Given the description of an element on the screen output the (x, y) to click on. 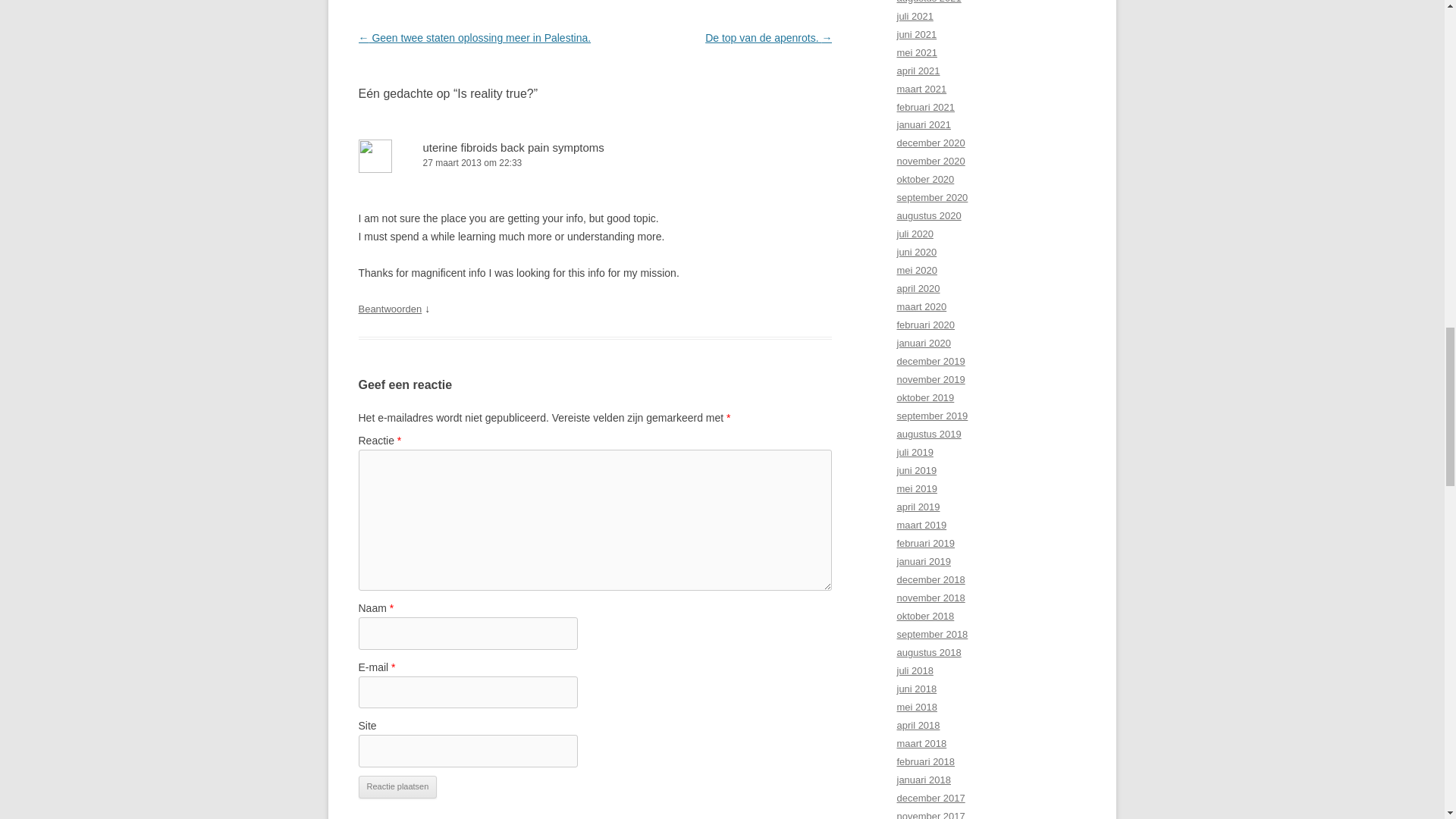
27 maart 2013 om 22:33 (594, 163)
Reactie plaatsen (397, 786)
uterine fibroids back pain symptoms (513, 146)
Beantwoorden (390, 308)
Reactie plaatsen (397, 786)
